Given the description of an element on the screen output the (x, y) to click on. 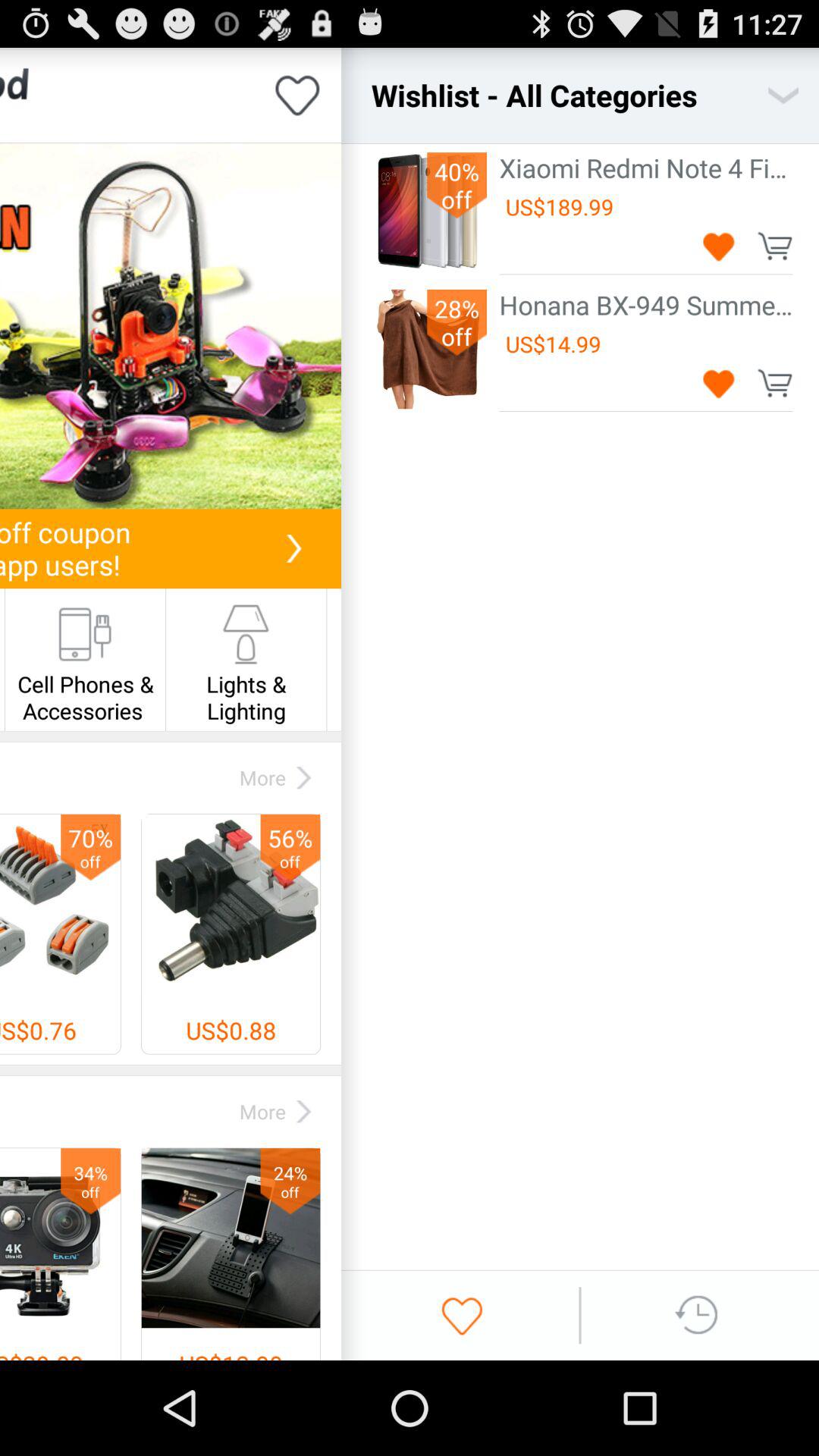
turn on the app to the right of the wishlist - all categories icon (783, 95)
